Given the description of an element on the screen output the (x, y) to click on. 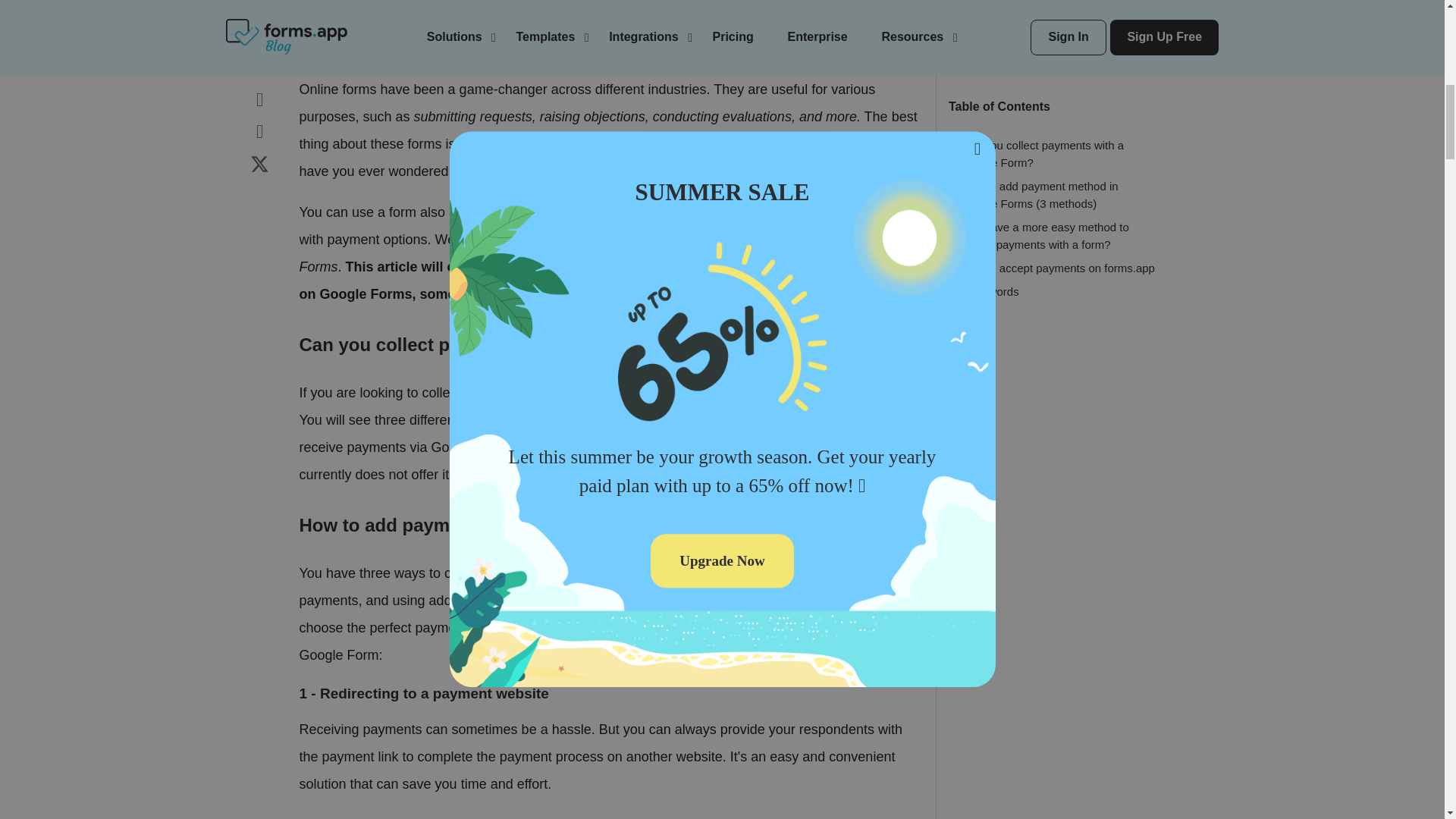
Can you collect payments with a Google Form? (1042, 132)
Final words (989, 269)
How to accept payments on forms.app (1057, 246)
